Given the description of an element on the screen output the (x, y) to click on. 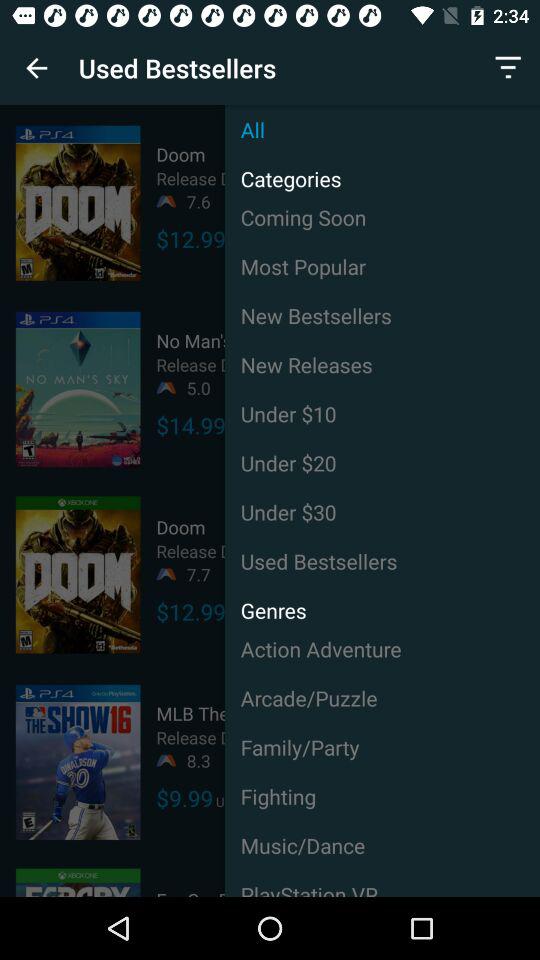
choose the icon below music/dance (382, 883)
